Given the description of an element on the screen output the (x, y) to click on. 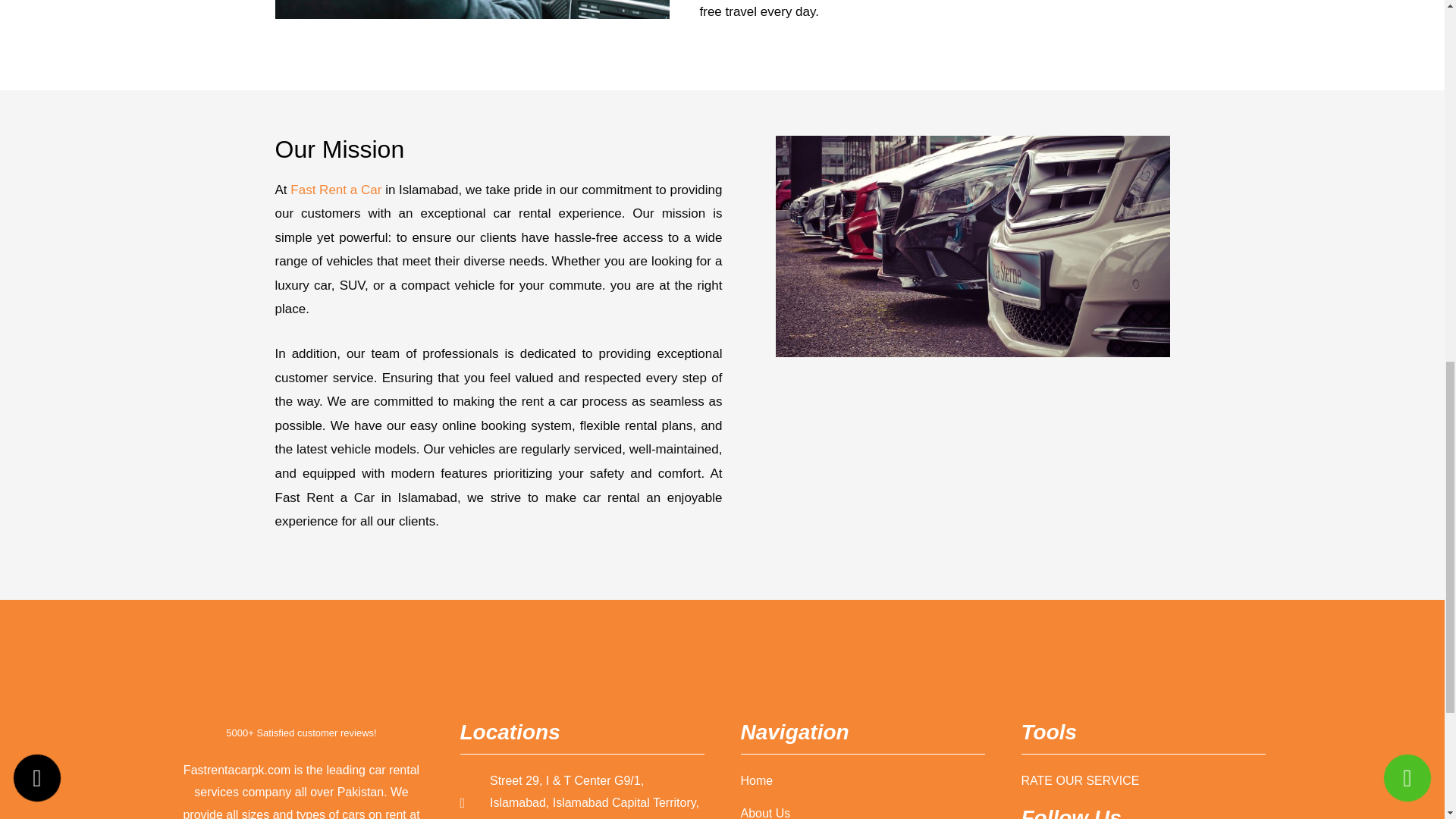
Fast Rent a Car (335, 189)
About Us (861, 810)
Home (861, 780)
